Given the description of an element on the screen output the (x, y) to click on. 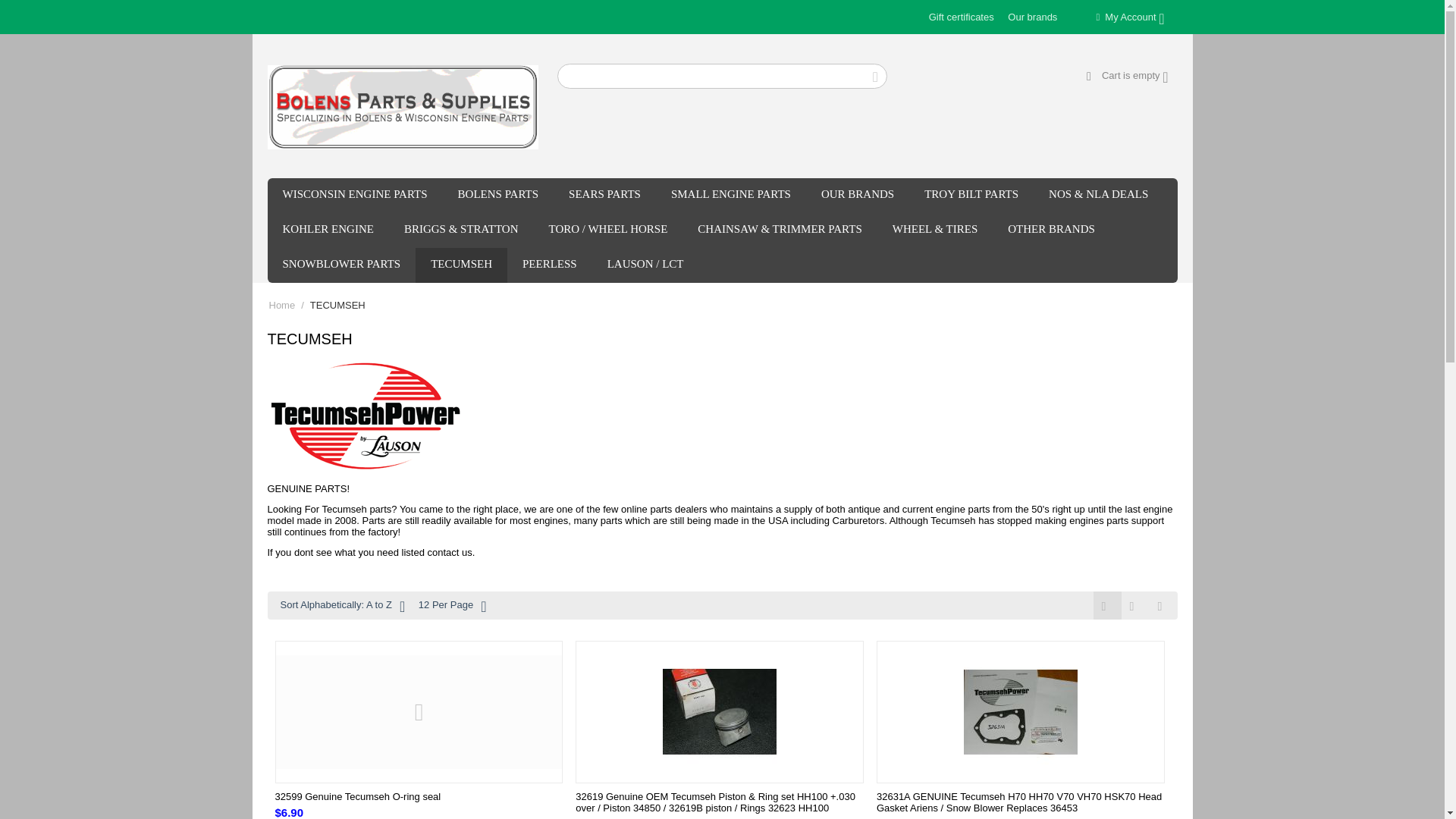
BOLENS PARTS (498, 195)
No image (418, 711)
Our brands (1032, 16)
  My Account (1129, 16)
32599 Genuine Tecumseh O-ring seal (418, 796)
WISCONSIN ENGINE PARTS (354, 195)
Gift certificates (961, 16)
SMALL ENGINE PARTS (731, 195)
SEARS PARTS (604, 195)
Cart is empty (1127, 75)
